Given the description of an element on the screen output the (x, y) to click on. 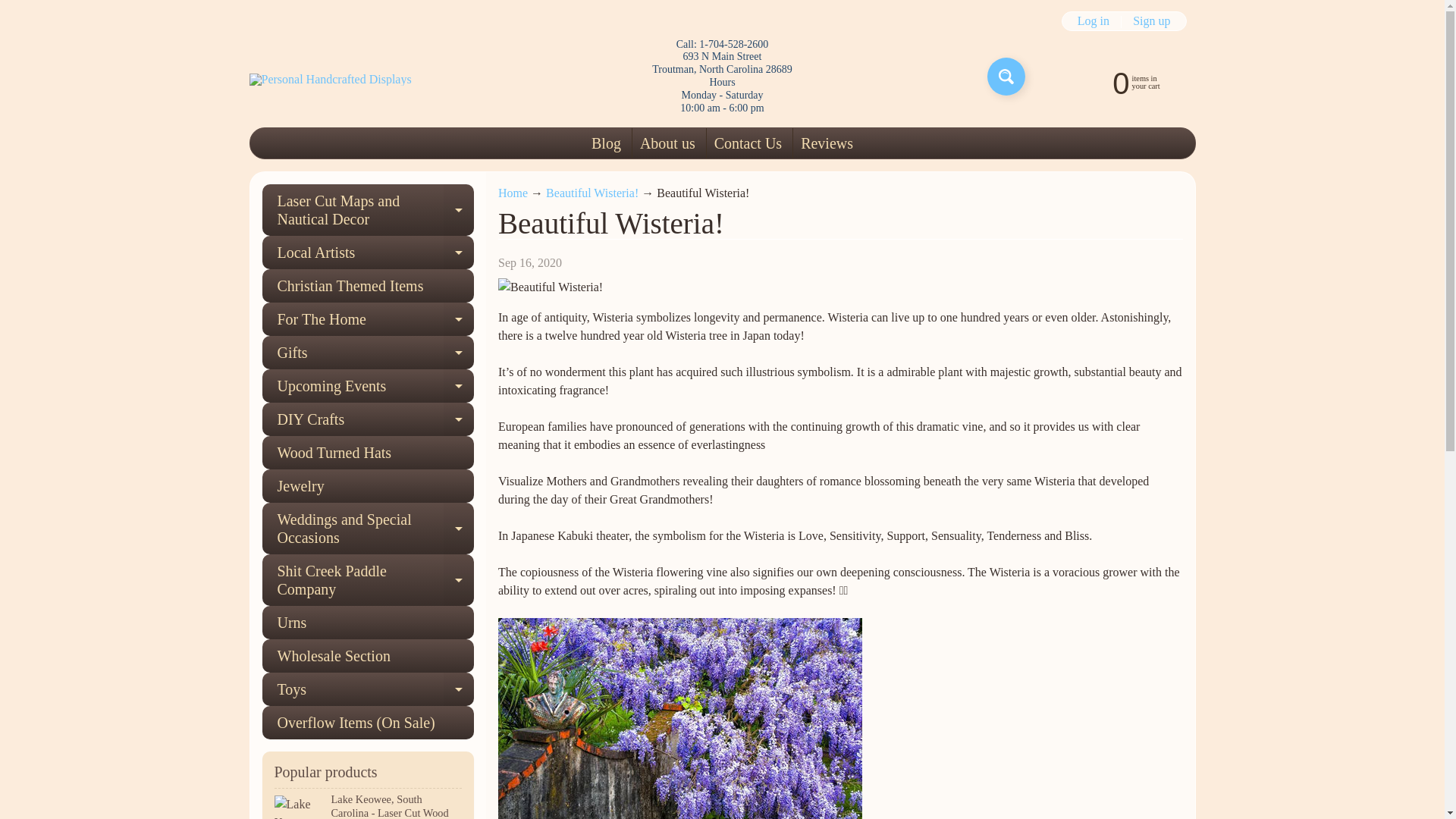
Blog (605, 142)
Sign up (1151, 21)
Search (1122, 81)
Personal Handcrafted Displays (1006, 76)
About us (368, 252)
Search (329, 79)
Back to the home page (667, 142)
Reviews (1006, 76)
Log in (512, 192)
Expand child menu (368, 209)
Contact Us (826, 142)
Skip to content (1093, 21)
